Given the description of an element on the screen output the (x, y) to click on. 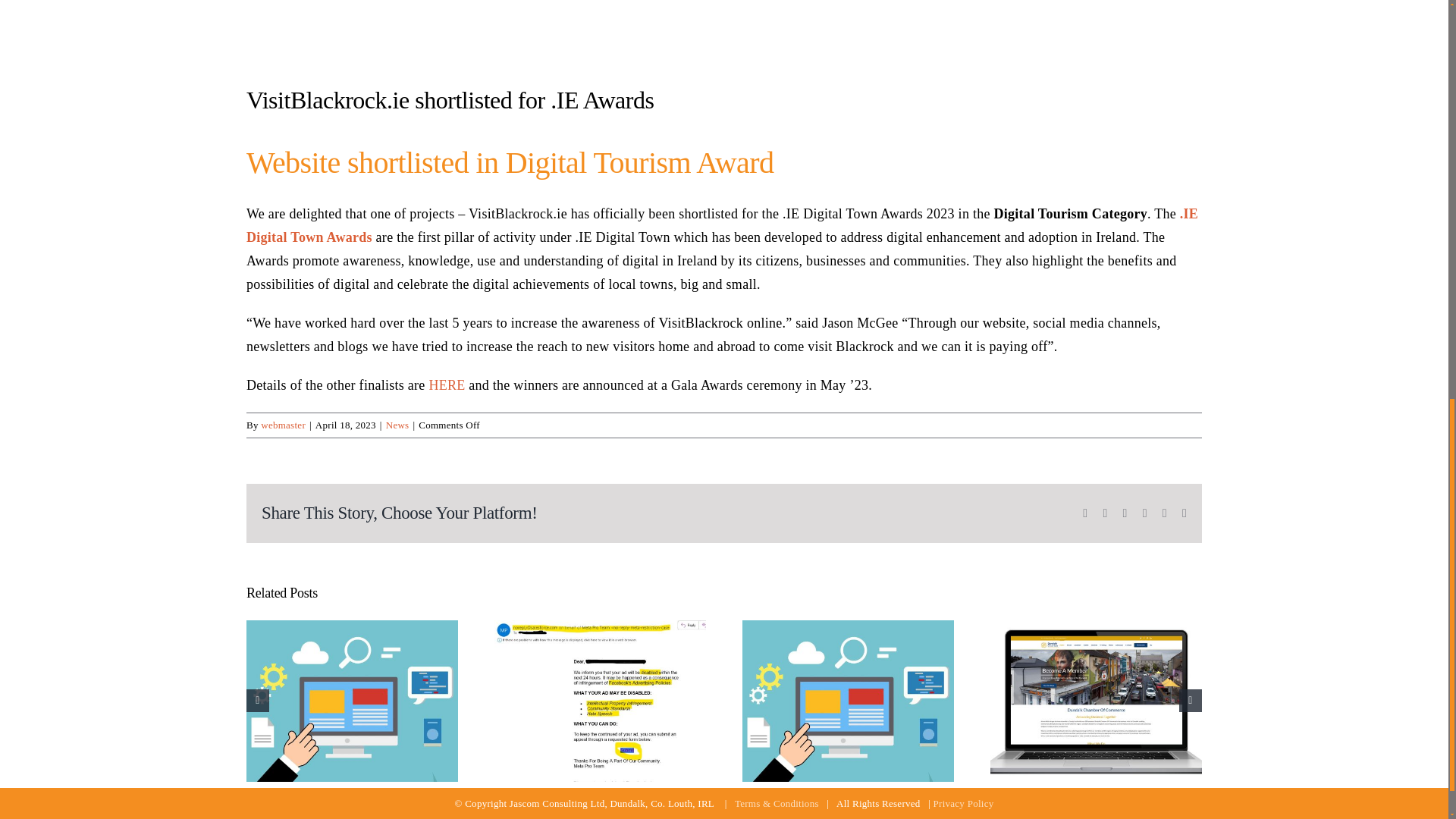
View Larger Image (724, 31)
News (397, 424)
Posts by webmaster (282, 424)
HERE (446, 385)
.IE Digital Town Awards (722, 225)
webmaster (282, 424)
